Given the description of an element on the screen output the (x, y) to click on. 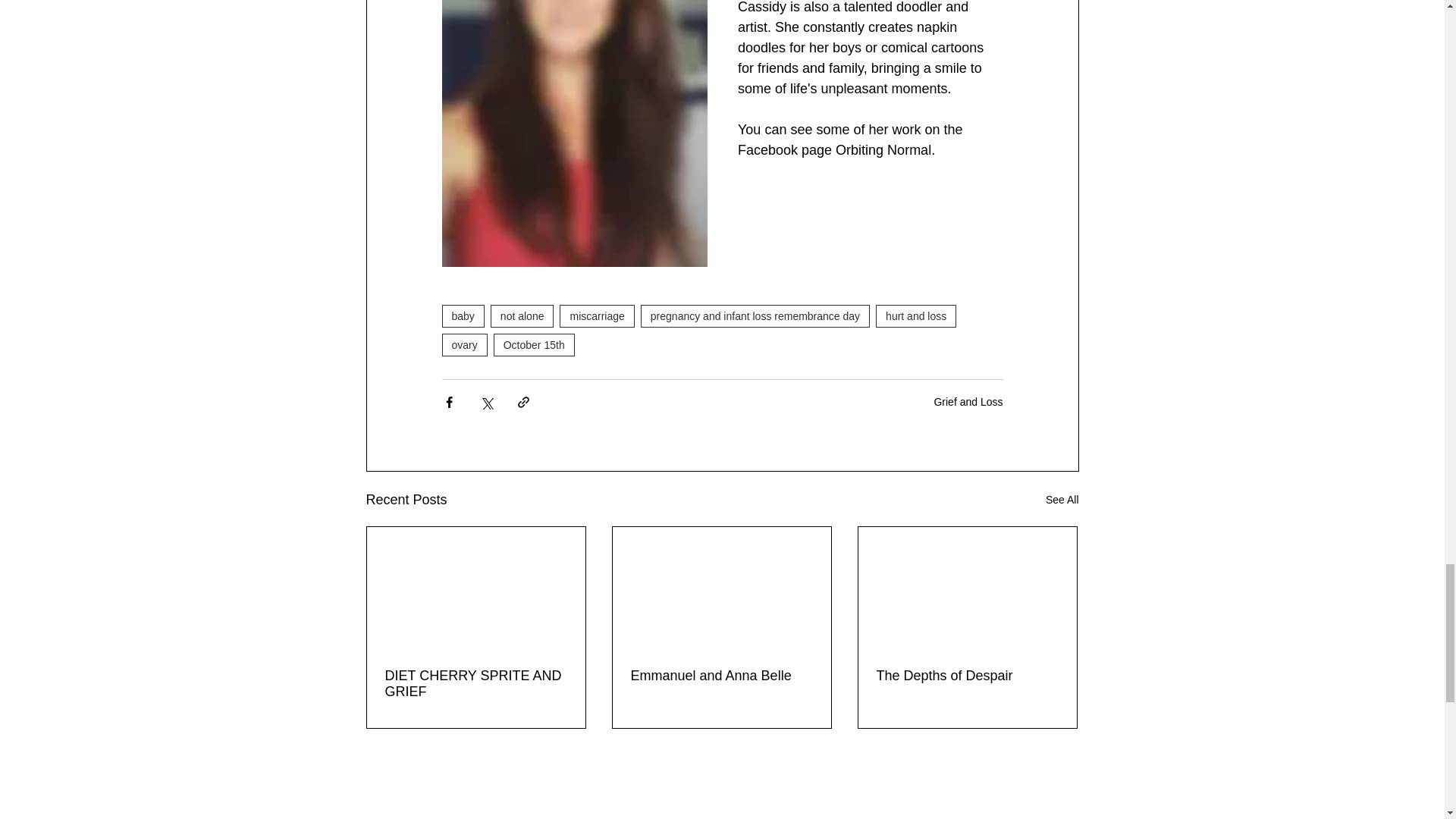
The Depths of Despair (967, 675)
Emmanuel and Anna Belle (721, 675)
DIET CHERRY SPRITE AND GRIEF (476, 684)
See All (1061, 499)
not alone (522, 315)
pregnancy and infant loss remembrance day (754, 315)
ovary (463, 344)
Grief and Loss (968, 401)
baby (462, 315)
miscarriage (596, 315)
